Given the description of an element on the screen output the (x, y) to click on. 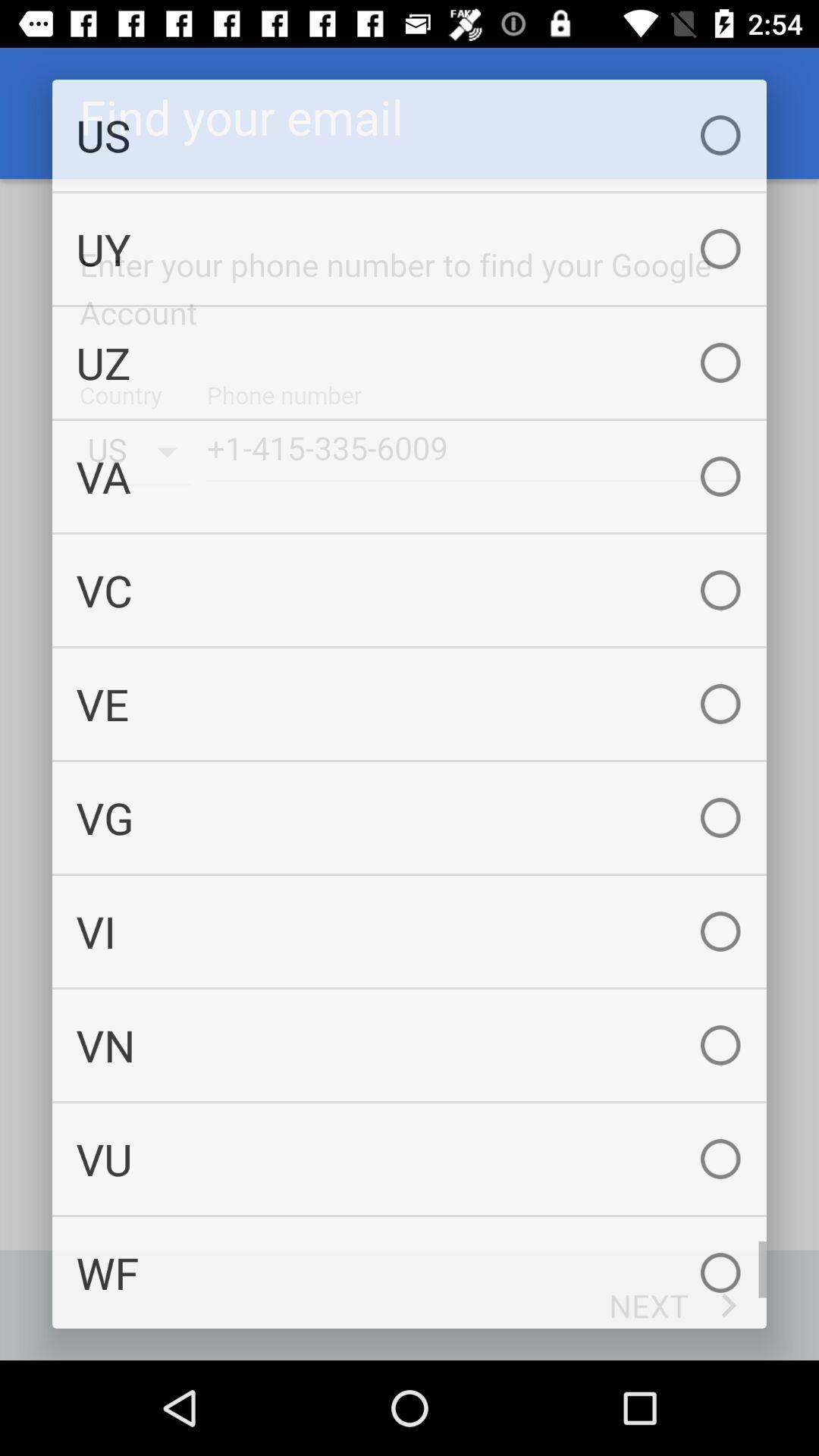
choose wf checkbox (409, 1272)
